Given the description of an element on the screen output the (x, y) to click on. 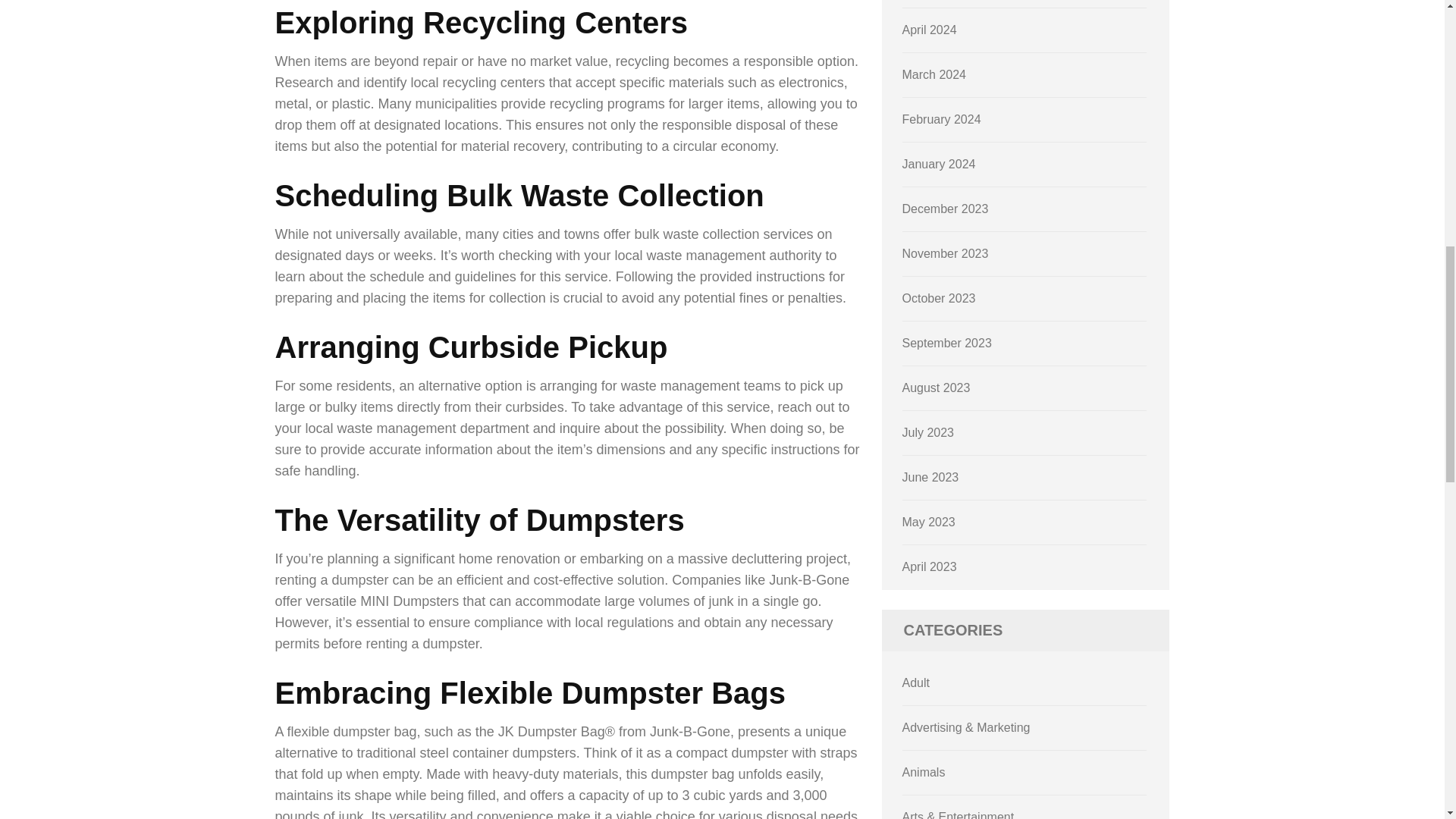
December 2023 (945, 208)
April 2024 (929, 29)
Adult (916, 682)
August 2023 (936, 387)
February 2024 (941, 119)
May 2023 (928, 521)
January 2024 (938, 164)
October 2023 (938, 297)
March 2024 (934, 74)
September 2023 (946, 342)
June 2023 (930, 477)
April 2023 (929, 566)
November 2023 (945, 253)
July 2023 (928, 431)
